Given the description of an element on the screen output the (x, y) to click on. 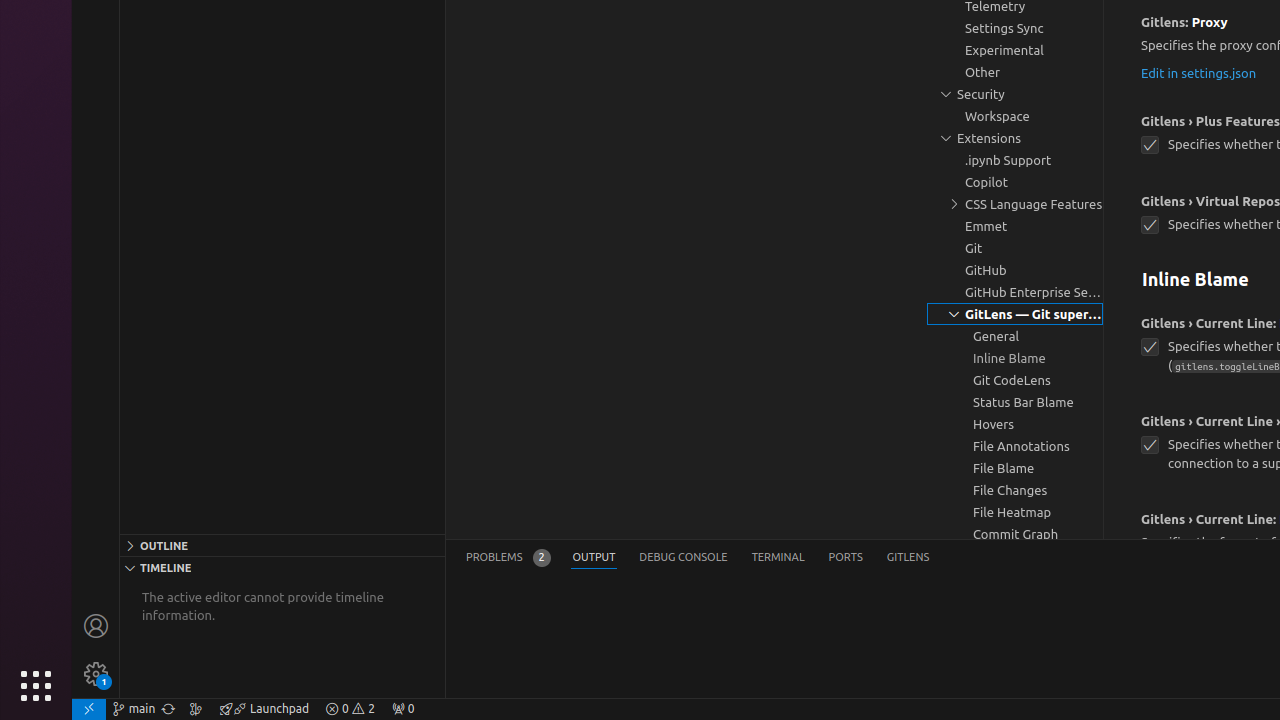
Active View Switcher Element type: page-tab-list (698, 557)
File Blame, group Element type: tree-item (1015, 468)
Edit in settings.json: gitlens.proxy Element type: push-button (1199, 72)
GitLens Element type: page-tab (908, 557)
Status Bar Blame, group Element type: tree-item (1015, 401)
